Given the description of an element on the screen output the (x, y) to click on. 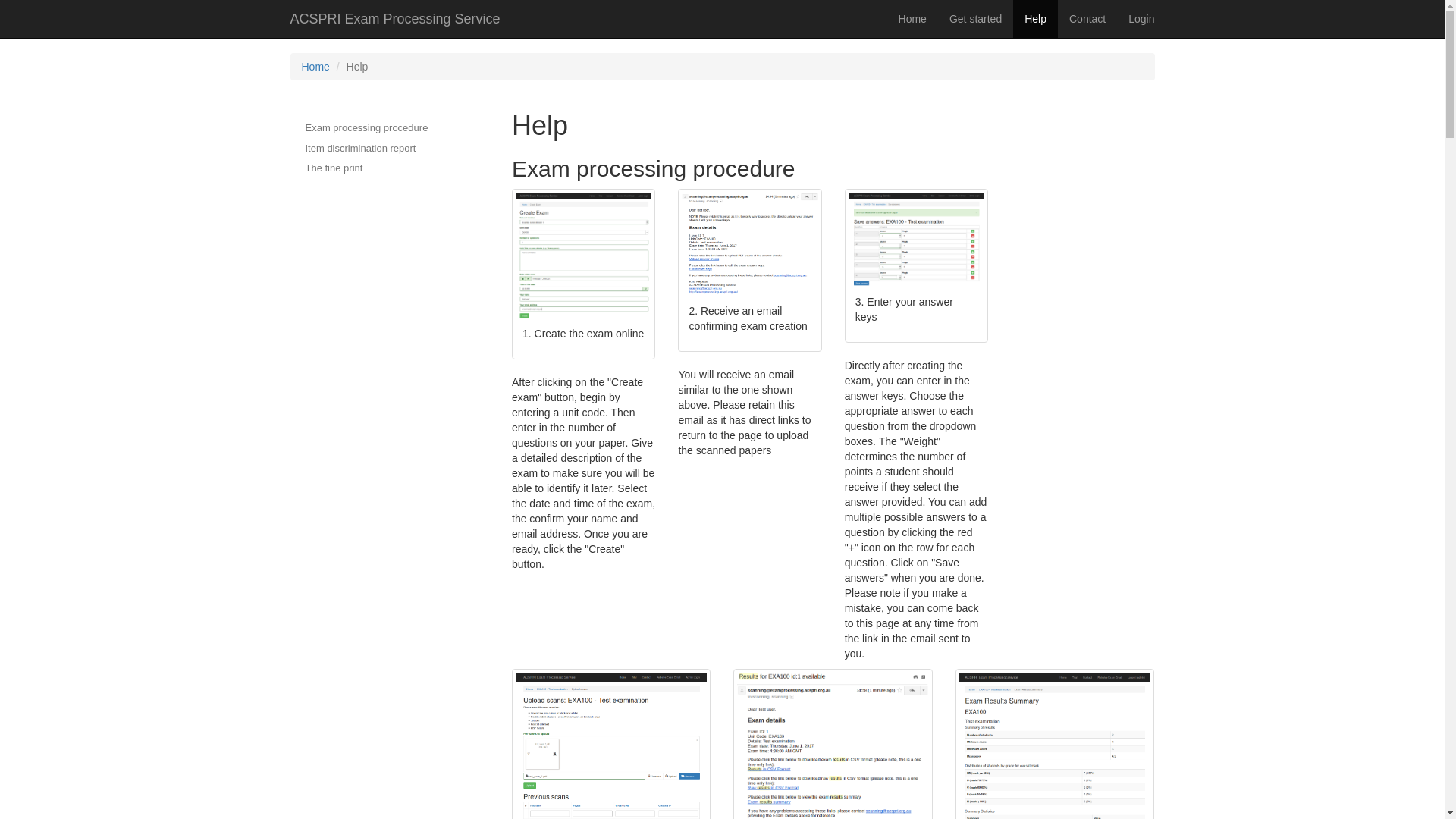
Get started Element type: text (975, 18)
Contact Element type: text (1087, 18)
Home Element type: text (912, 18)
3. Enter your answer keys Element type: text (916, 265)
1. Create the exam online Element type: text (583, 273)
ACSPRI Exam Processing Service Element type: text (395, 18)
Login Element type: text (1141, 18)
Home Element type: text (315, 66)
The fine print Element type: text (365, 168)
Exam processing procedure Element type: text (365, 128)
Item discrimination report Element type: text (365, 148)
Help Element type: text (1035, 18)
2. Receive an email confirming exam creation Element type: text (749, 270)
